Given the description of an element on the screen output the (x, y) to click on. 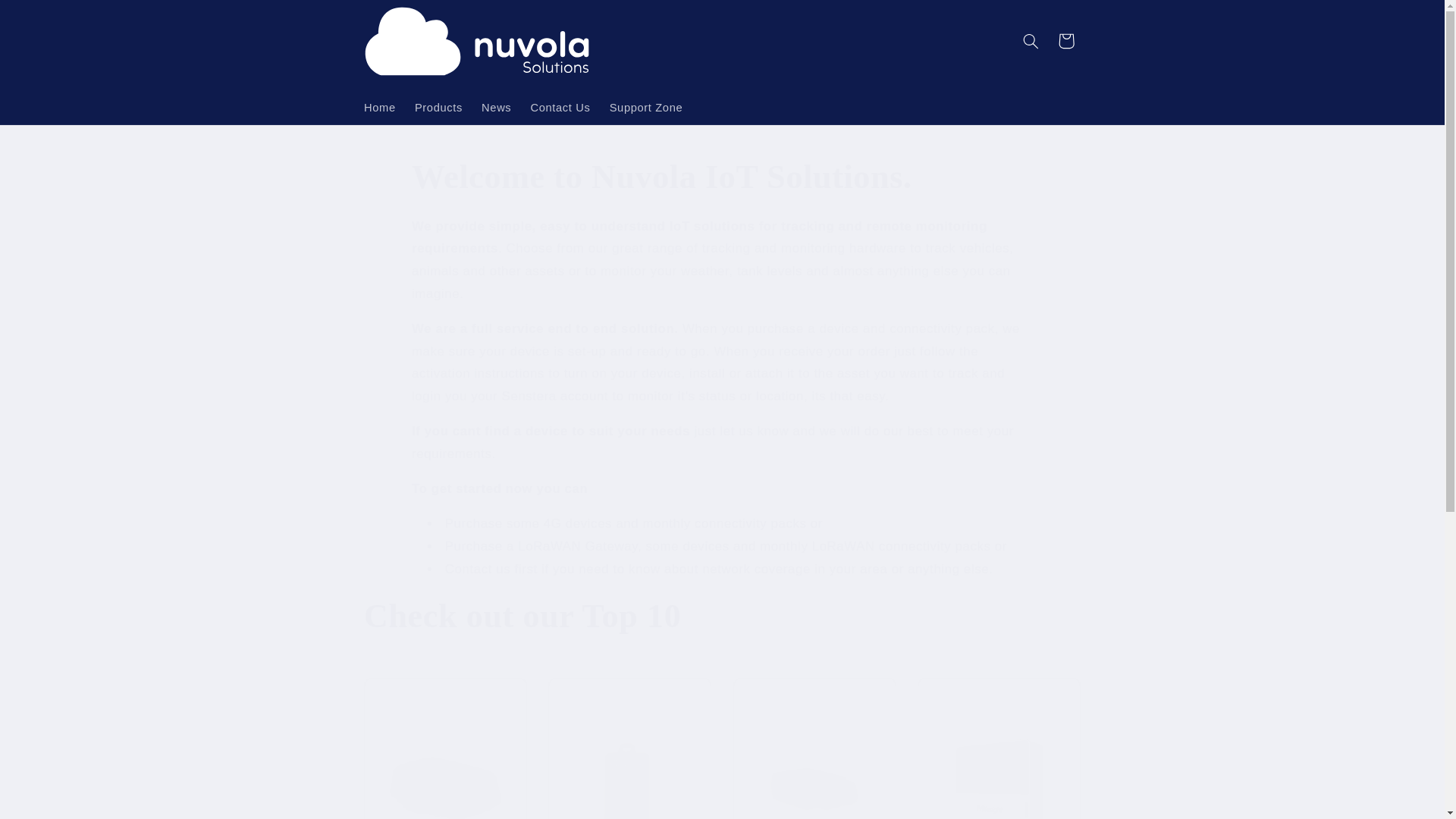
Welcome to Nuvola IoT Solutions. (722, 177)
Support Zone (646, 107)
Contact Us (560, 107)
Check out our Top 10 (722, 616)
Skip to content (48, 18)
Home (378, 107)
Cart (1065, 40)
News (495, 107)
Products (437, 107)
